Given the description of an element on the screen output the (x, y) to click on. 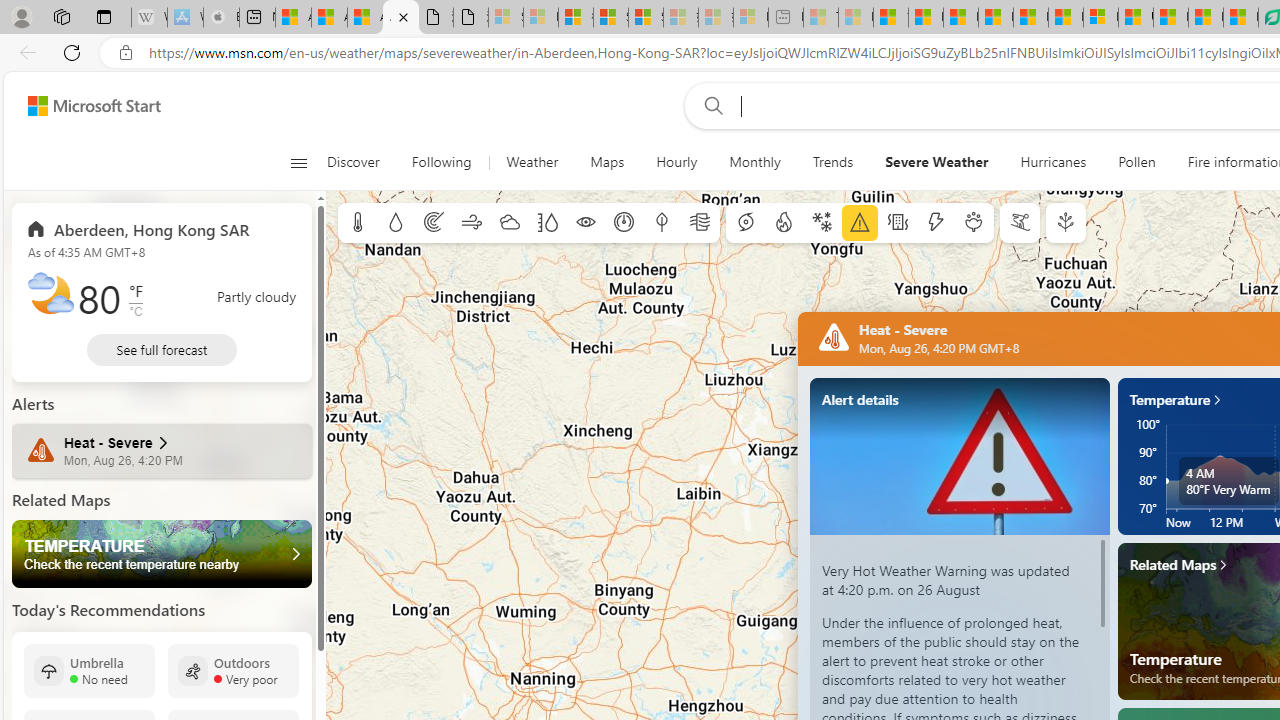
Ski conditions (1020, 223)
Lightning (935, 223)
See full forecast (161, 349)
Buy iPad - Apple - Sleeping (221, 17)
Hurricanes (1053, 162)
Fire information (783, 223)
Dew point (661, 223)
Trends (833, 162)
